Given the description of an element on the screen output the (x, y) to click on. 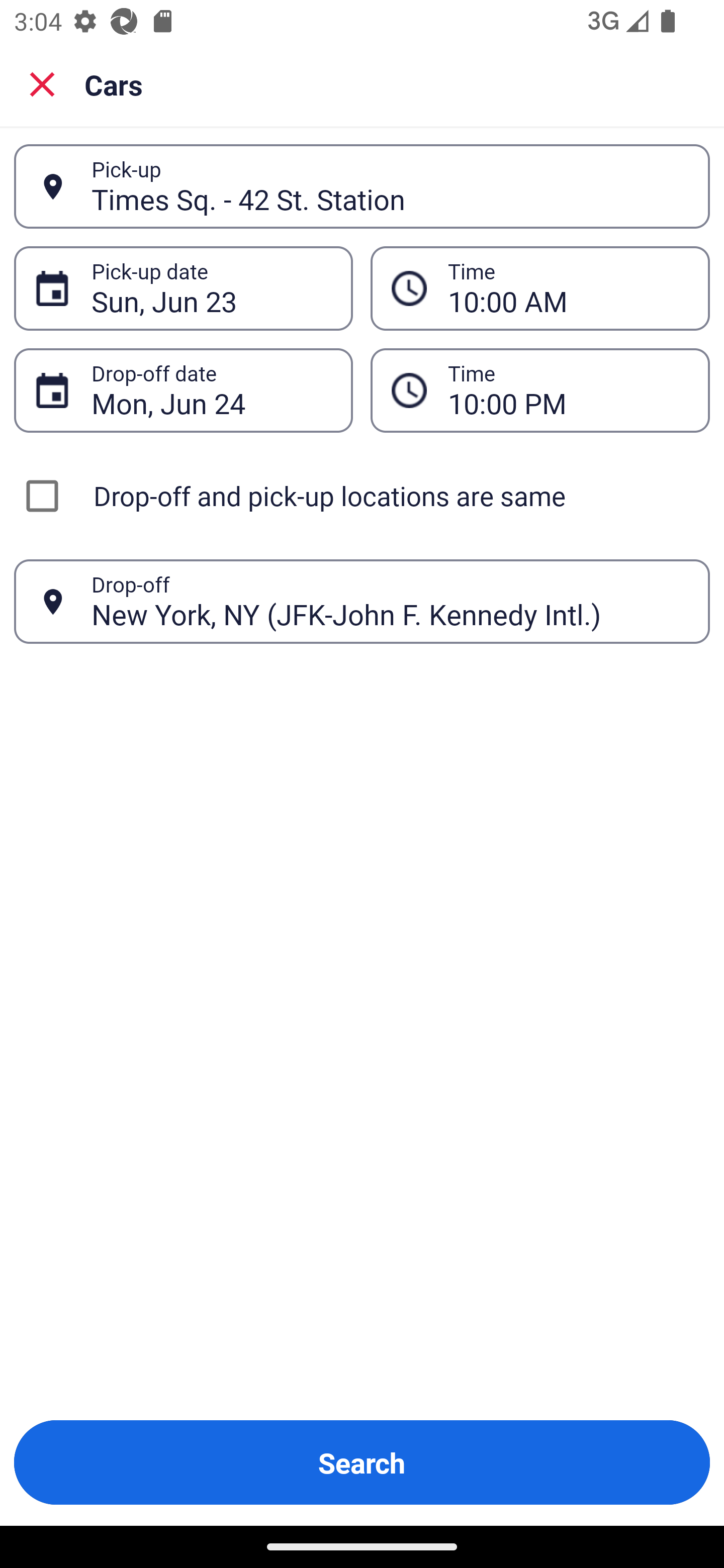
Close search screen (41, 83)
Times Sq. - 42 St. Station Pick-up (361, 186)
Times Sq. - 42 St. Station (389, 186)
Sun, Jun 23 Pick-up date (183, 288)
10:00 AM (540, 288)
Sun, Jun 23 (211, 288)
10:00 AM (568, 288)
Mon, Jun 24 Drop-off date (183, 390)
10:00 PM (540, 390)
Mon, Jun 24 (211, 390)
10:00 PM (568, 390)
Drop-off and pick-up locations are same (361, 495)
New York, NY (JFK-John F. Kennedy Intl.) Drop-off (361, 601)
New York, NY (JFK-John F. Kennedy Intl.) (389, 601)
Search Button Search (361, 1462)
